Given the description of an element on the screen output the (x, y) to click on. 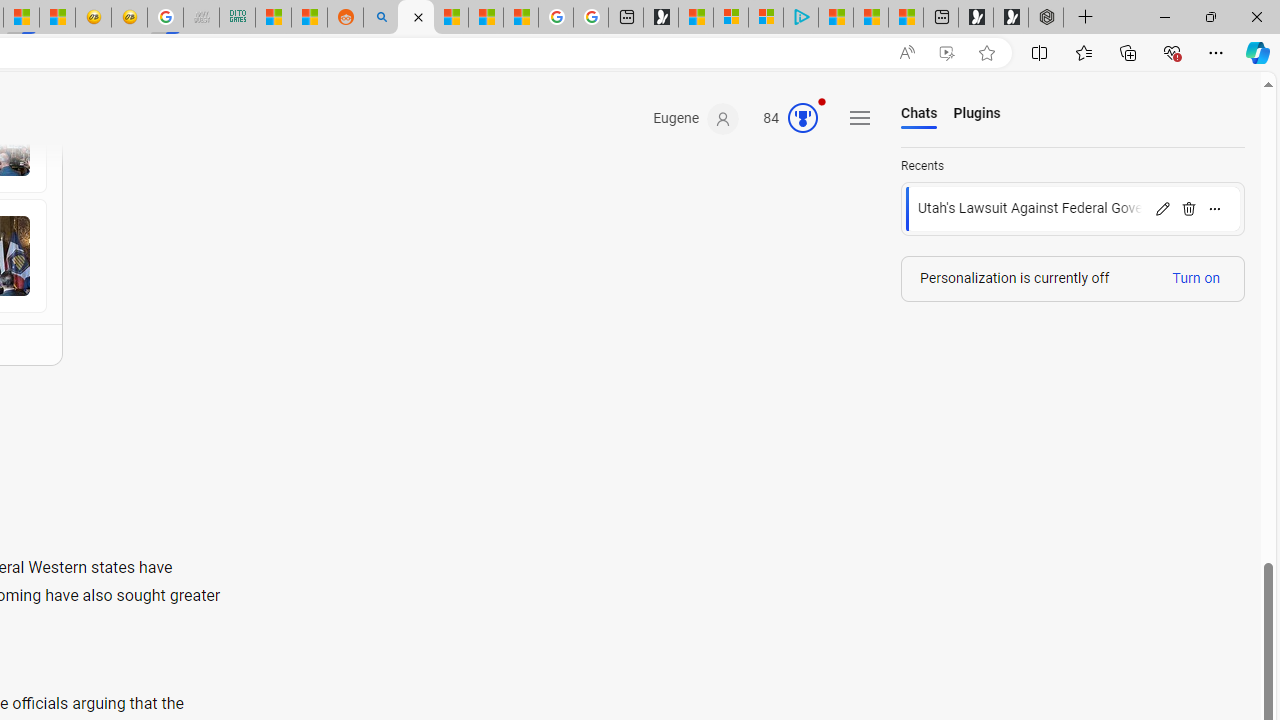
AutomationID: rh_meter (803, 117)
These 3 Stocks Pay You More Than 5% to Own Them (905, 17)
Animation (821, 101)
Turn on (1196, 278)
